Given the description of an element on the screen output the (x, y) to click on. 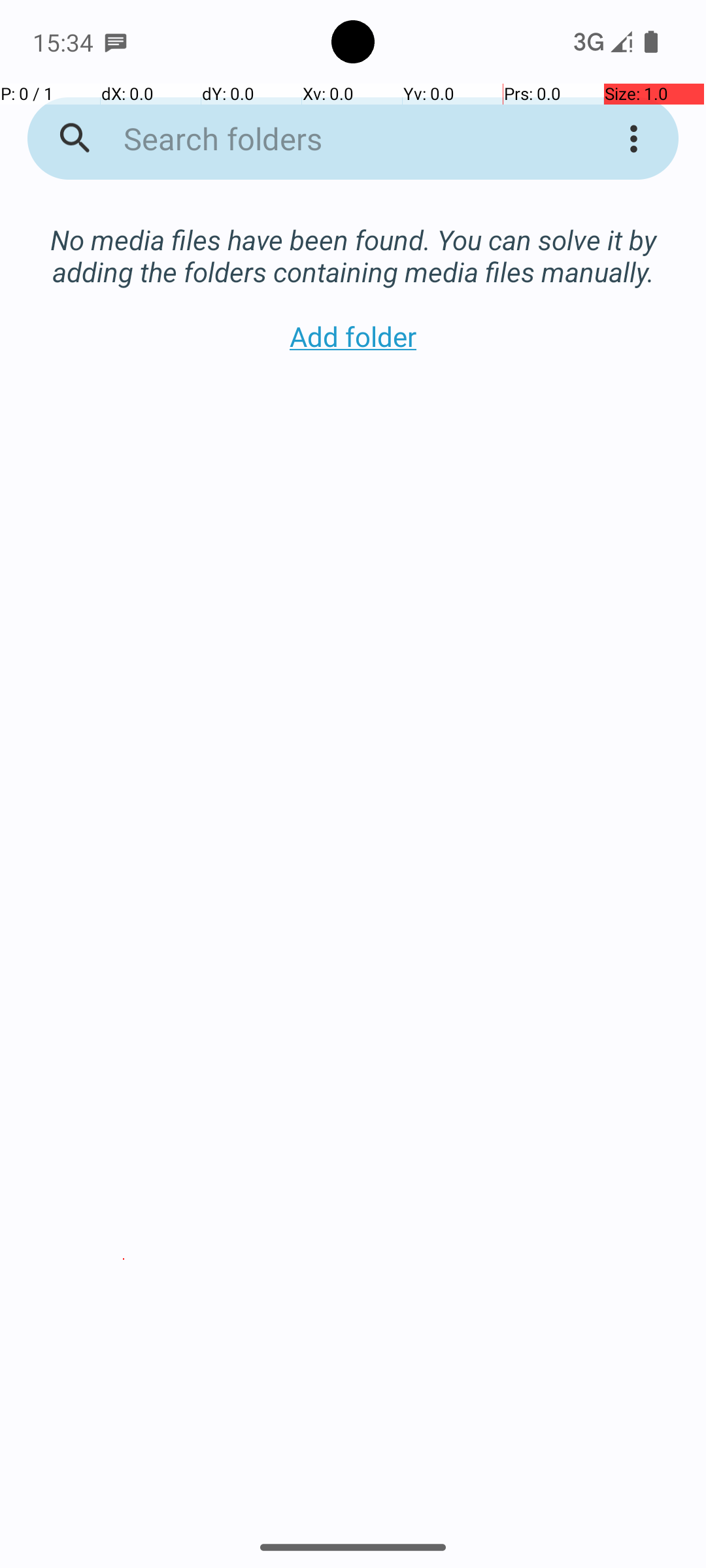
No media files have been found. You can solve it by adding the folders containing media files manually. Element type: android.widget.TextView (353, 241)
Add folder Element type: android.widget.TextView (352, 336)
Search folders Element type: android.widget.EditText (335, 138)
